Given the description of an element on the screen output the (x, y) to click on. 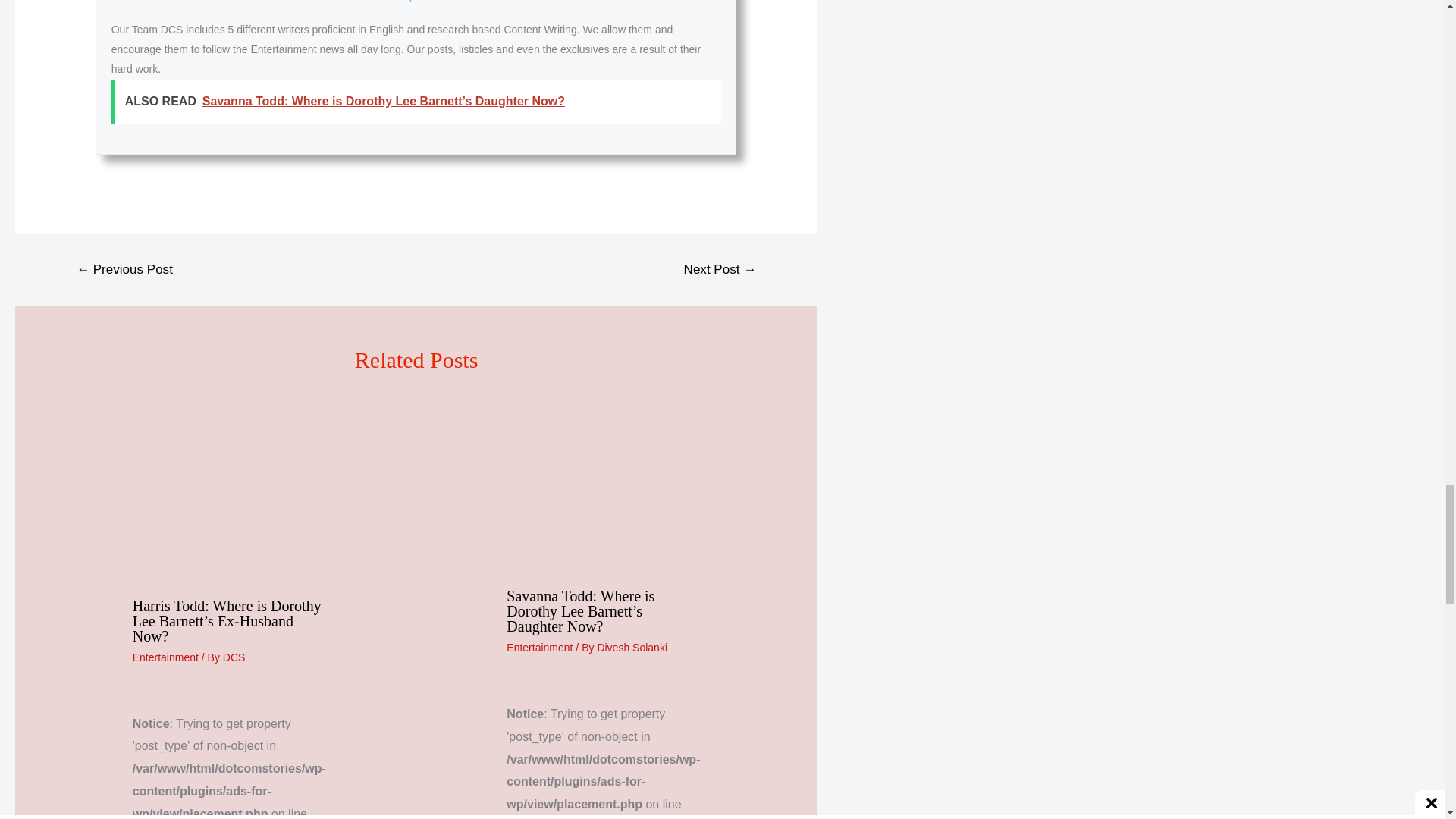
View all posts by DCS (234, 657)
Entertainment (165, 657)
View all posts by Divesh Solanki (631, 647)
DCS (234, 657)
